Given the description of an element on the screen output the (x, y) to click on. 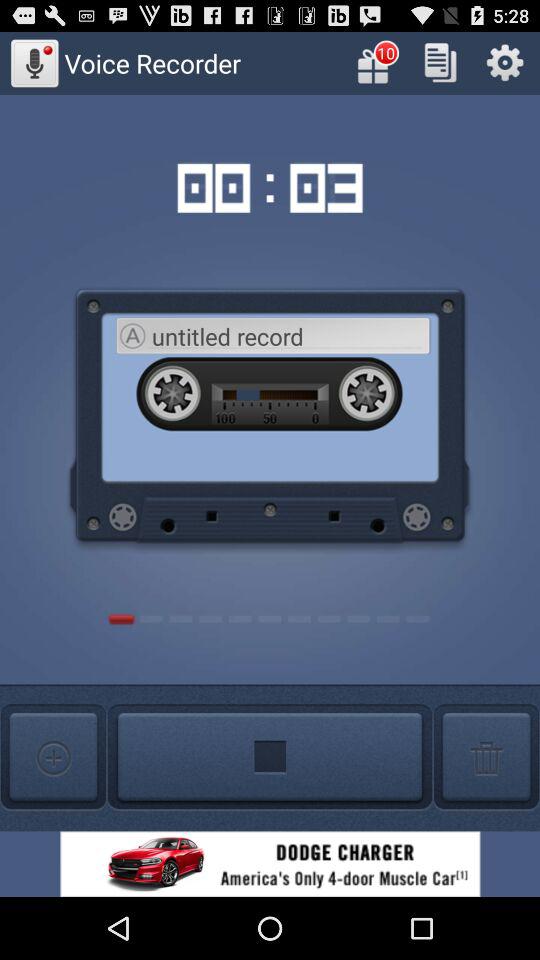
go to advertisement (270, 864)
